Given the description of an element on the screen output the (x, y) to click on. 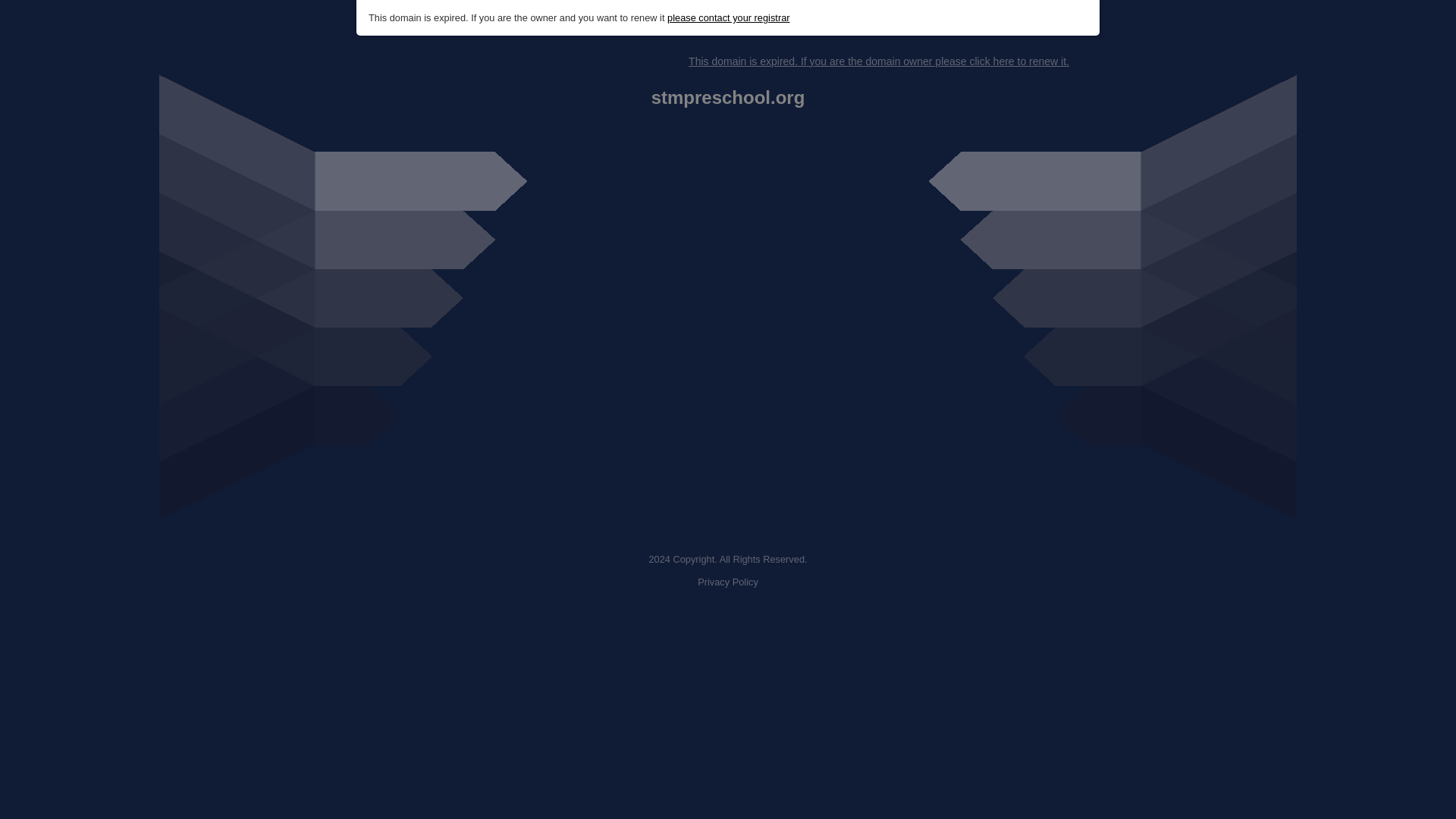
Privacy Policy (727, 582)
please contact your registrar (727, 17)
